Given the description of an element on the screen output the (x, y) to click on. 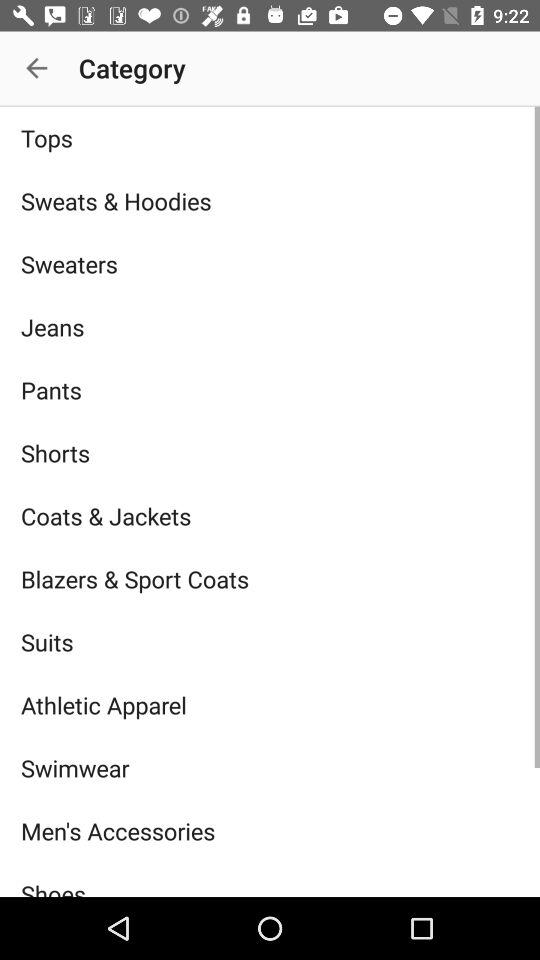
select the item above shoes (270, 830)
